Given the description of an element on the screen output the (x, y) to click on. 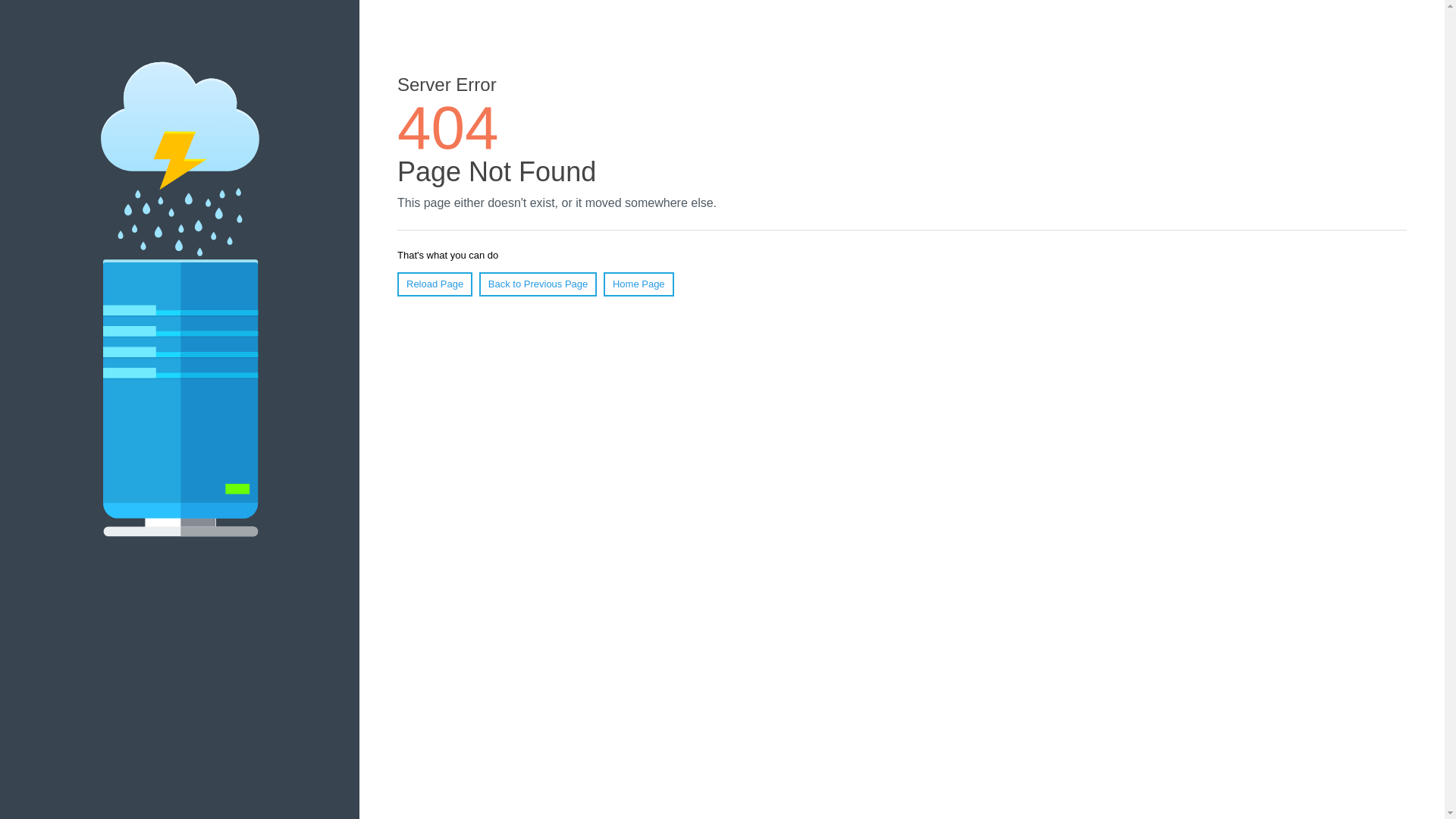
Home Page Element type: text (638, 284)
Back to Previous Page Element type: text (538, 284)
Reload Page Element type: text (434, 284)
